Given the description of an element on the screen output the (x, y) to click on. 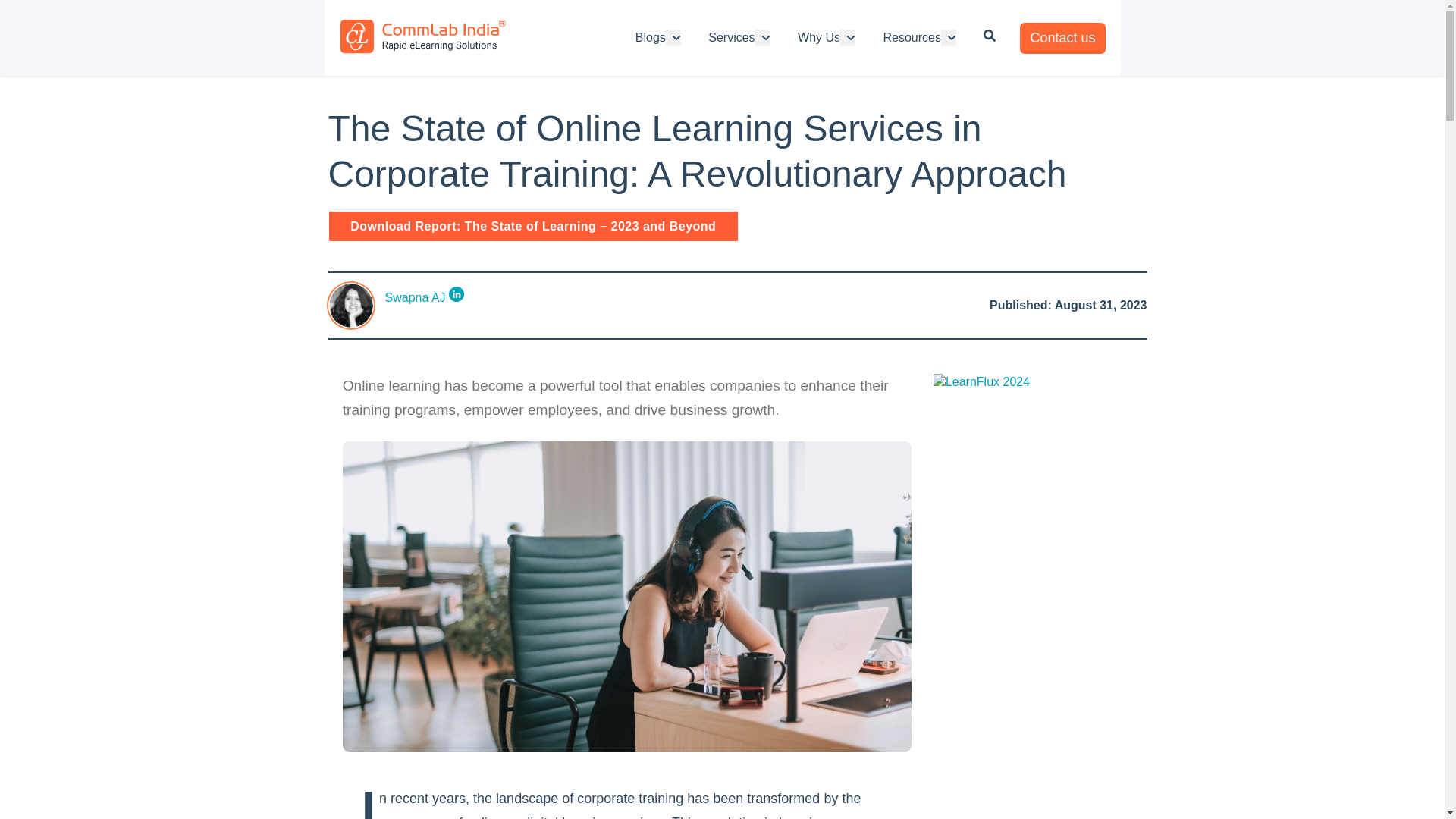
Why Us (818, 37)
LearnFlux 2024 (981, 381)
Show submenu for Services (762, 37)
Services (730, 37)
Blogs (649, 37)
Resources (911, 37)
Show submenu for Resources (948, 37)
Show submenu for Why Us (848, 37)
Show submenu for Blogs (673, 37)
